Given the description of an element on the screen output the (x, y) to click on. 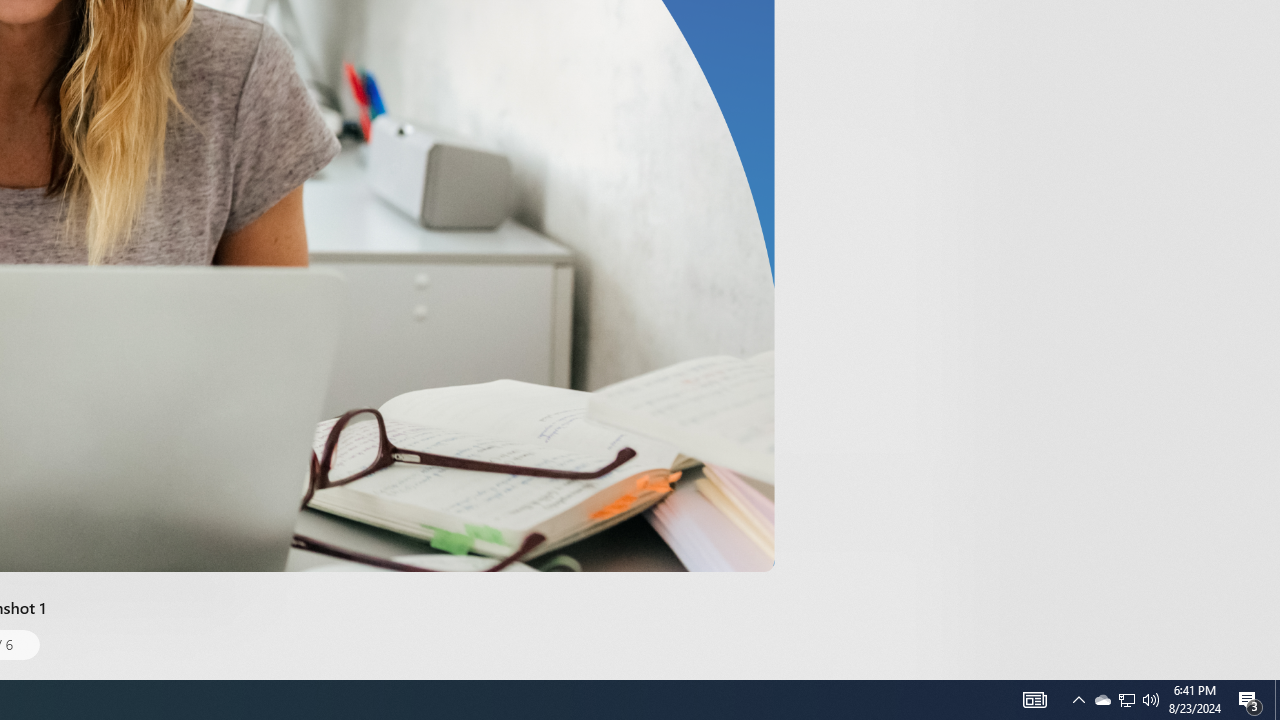
Show all ratings and reviews (924, 97)
